Given the description of an element on the screen output the (x, y) to click on. 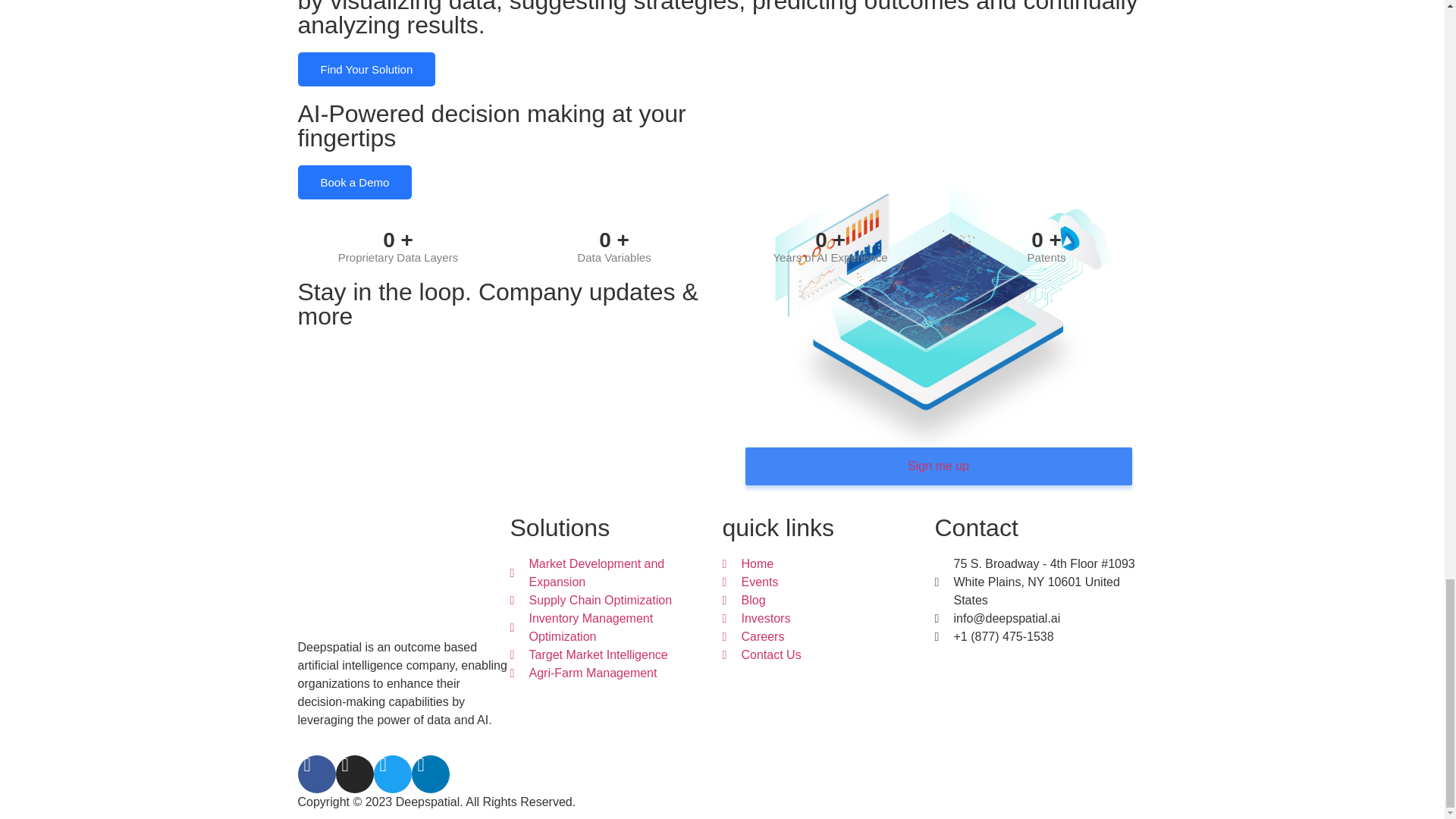
Sign me up (938, 390)
